Given the description of an element on the screen output the (x, y) to click on. 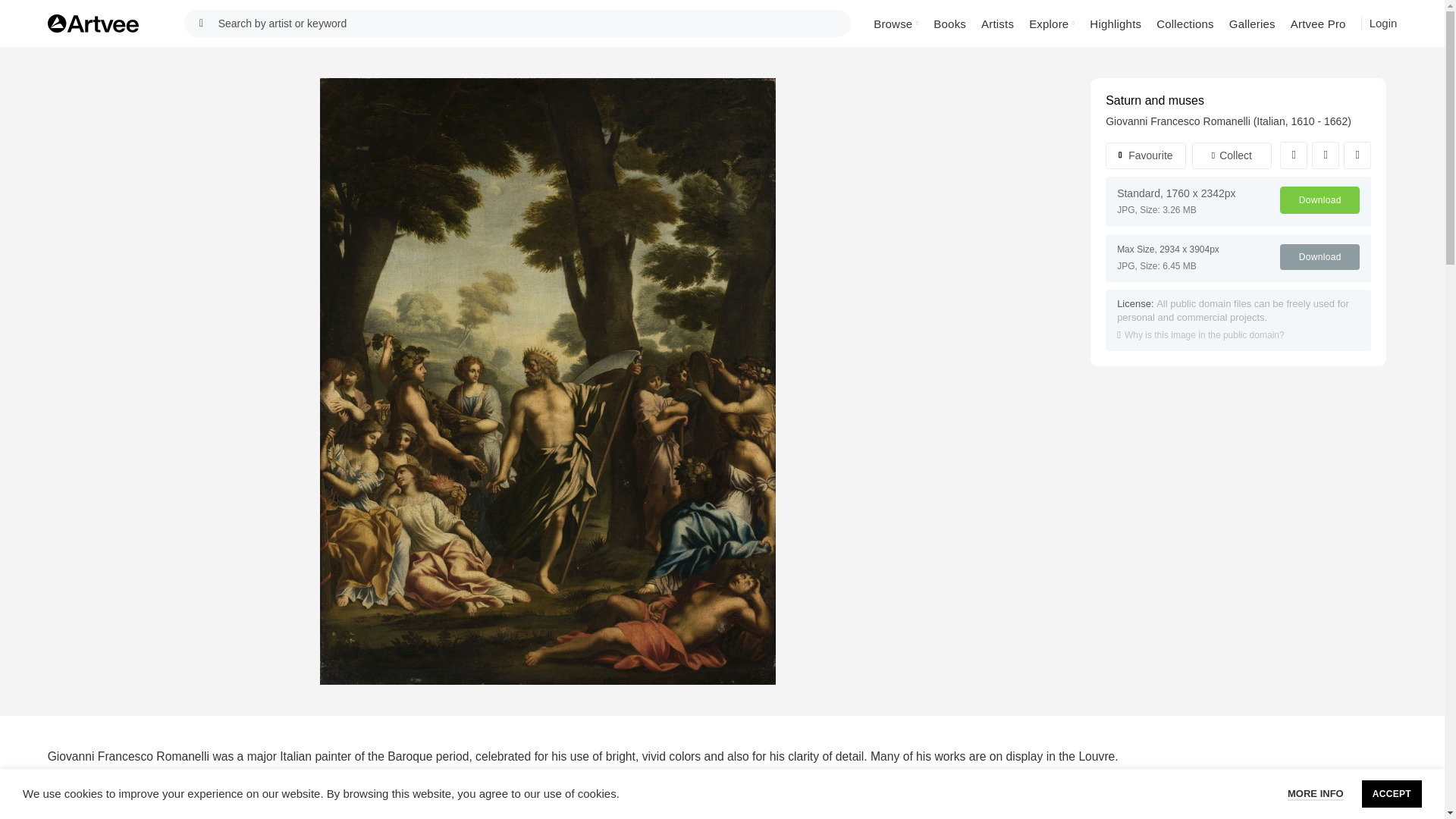
Galleries (1251, 23)
Download (1319, 199)
Books (950, 23)
Collect (1232, 155)
Login (1383, 23)
Highlights (1114, 23)
Artvee Pro (1318, 23)
Download (1319, 257)
Explore (1051, 23)
Login (1383, 22)
Browse (896, 23)
Artists (998, 23)
SEARCH (201, 22)
Twitter (1325, 154)
Collections (1184, 23)
